Given the description of an element on the screen output the (x, y) to click on. 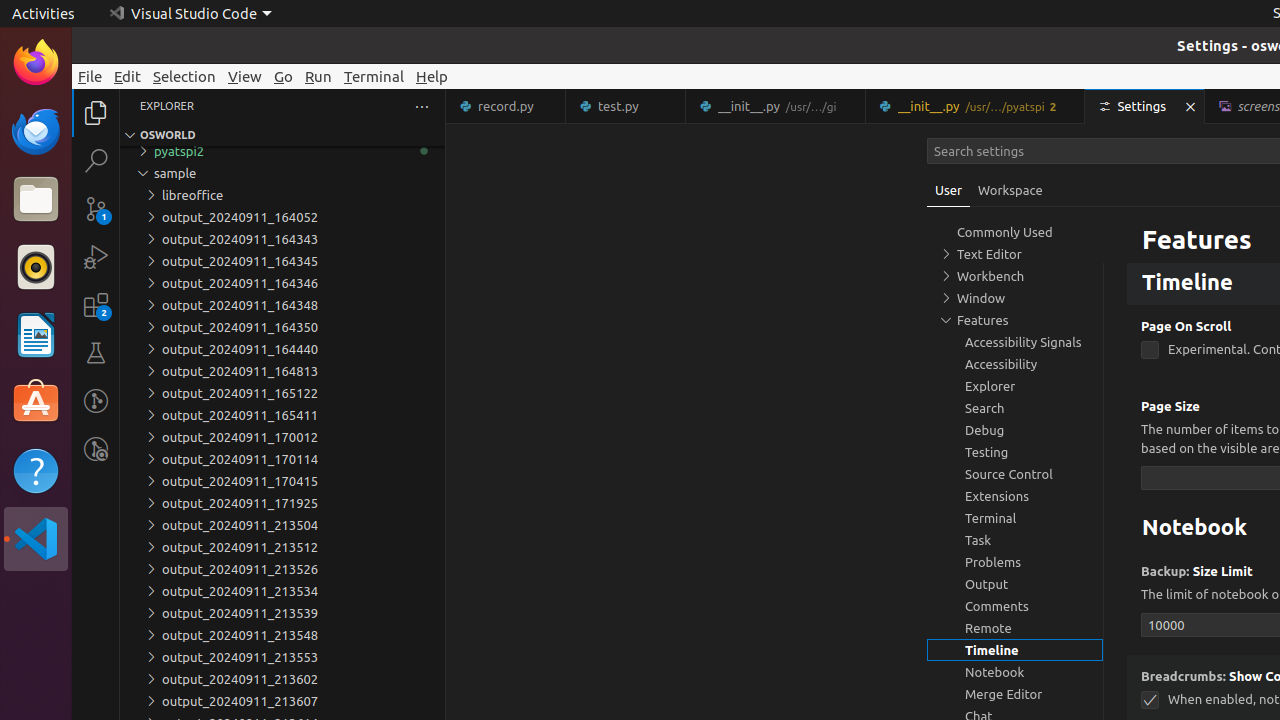
Problems, group Element type: tree-item (1015, 562)
output_20240911_213512 Element type: tree-item (282, 547)
Workbench, group Element type: tree-item (1015, 276)
output_20240911_164345 Element type: tree-item (282, 261)
View Element type: push-button (245, 76)
